Given the description of an element on the screen output the (x, y) to click on. 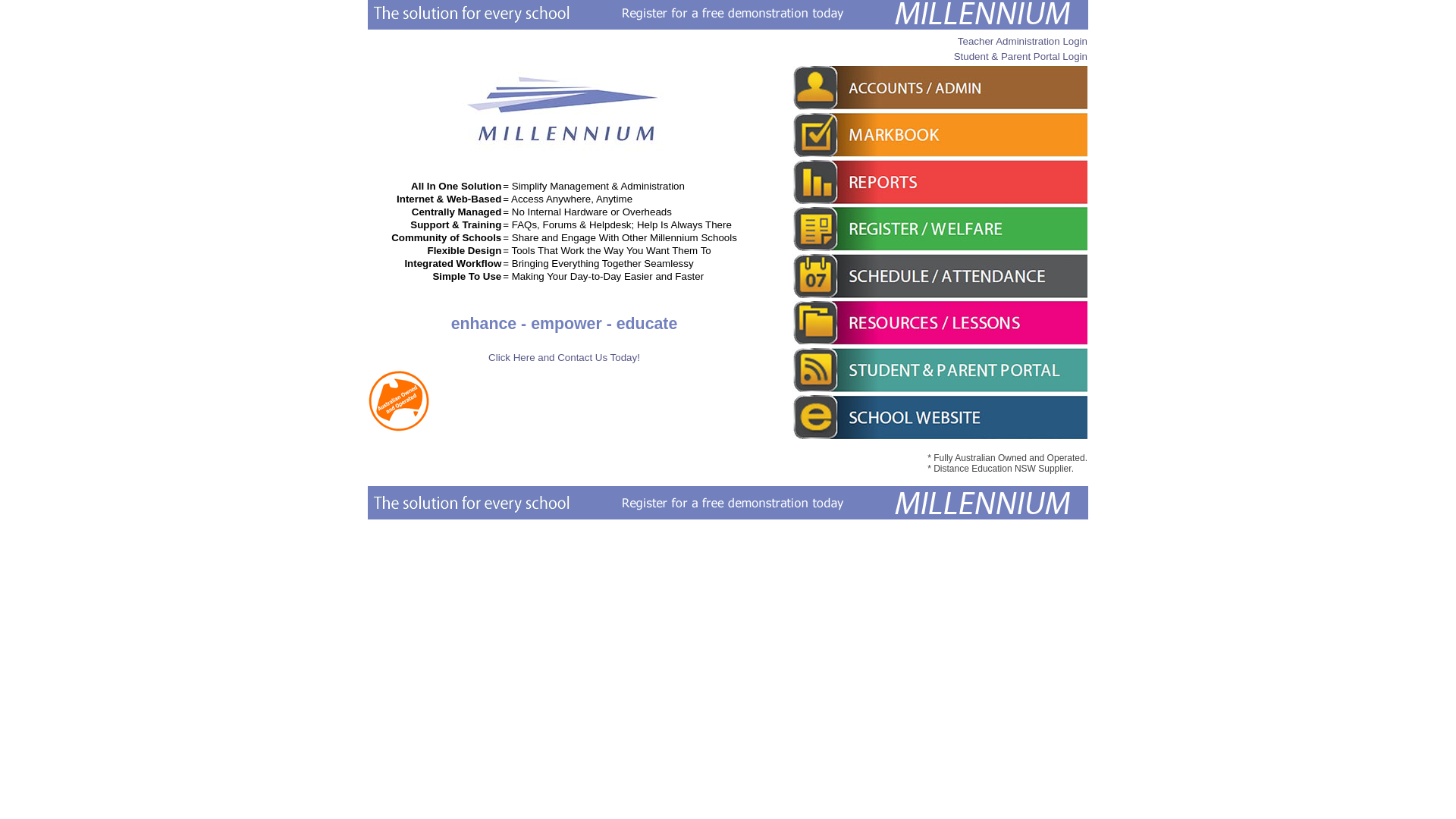
Markbook Element type: hover (939, 134)
Student & Parent Portal Login Element type: text (1020, 56)
Reports Element type: hover (939, 181)
Register / Welfare Element type: hover (939, 229)
Accounts & Users Element type: hover (939, 87)
Schedule / Attendance Element type: hover (939, 276)
Student / Parent Portal Element type: hover (939, 370)
Click Here and Contact Us Today! Element type: text (564, 357)
School Website Element type: hover (939, 417)
Resources / Calendar Element type: hover (939, 323)
Home Element type: hover (563, 153)
Register for a free demonstration Element type: hover (727, 502)
Teacher Administration Login Element type: text (1022, 41)
